Given the description of an element on the screen output the (x, y) to click on. 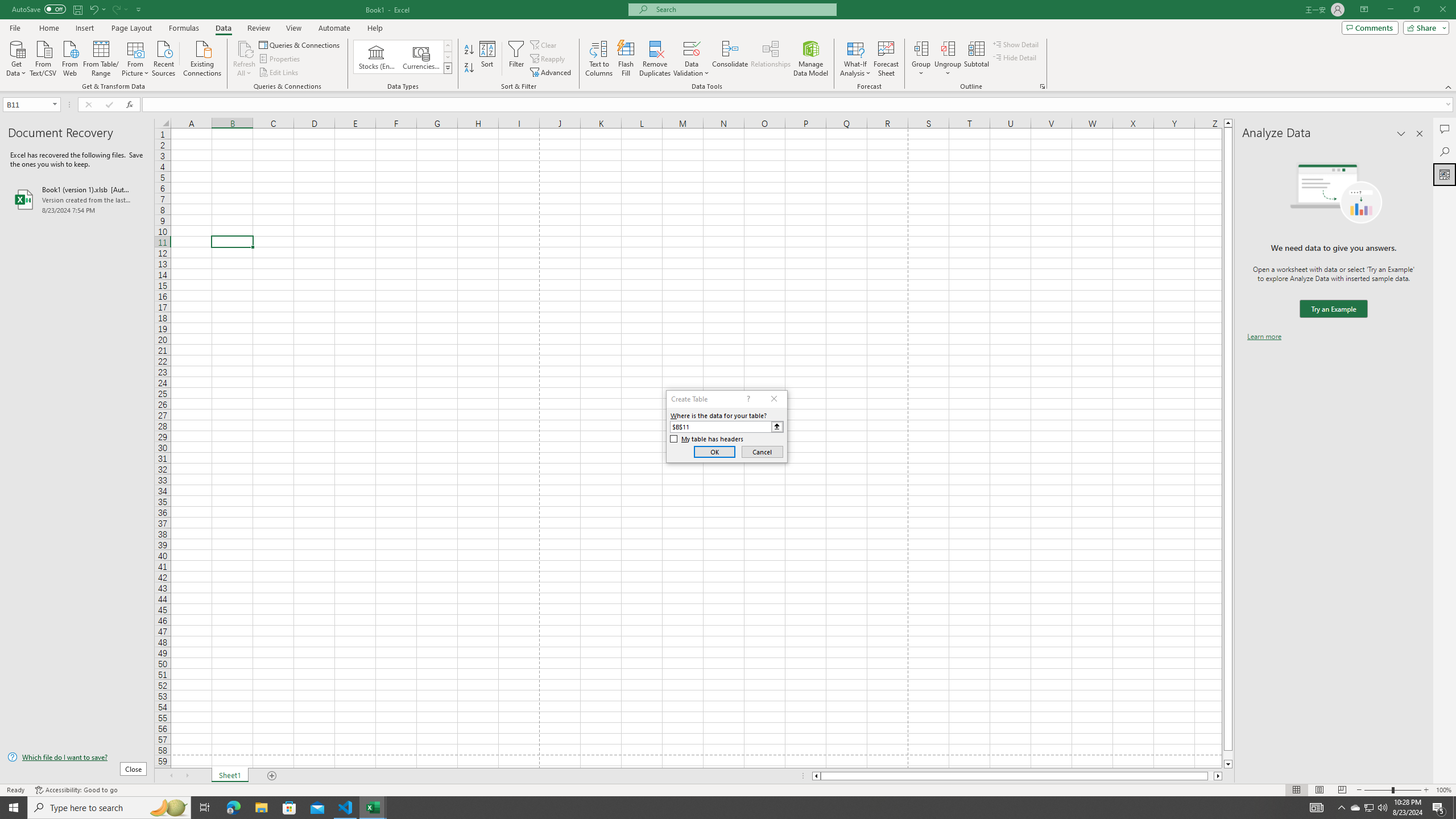
From Picture (135, 57)
Reapply (548, 58)
Sort Z to A (469, 67)
Group and Outline Settings (1042, 85)
Get Data (16, 57)
